Given the description of an element on the screen output the (x, y) to click on. 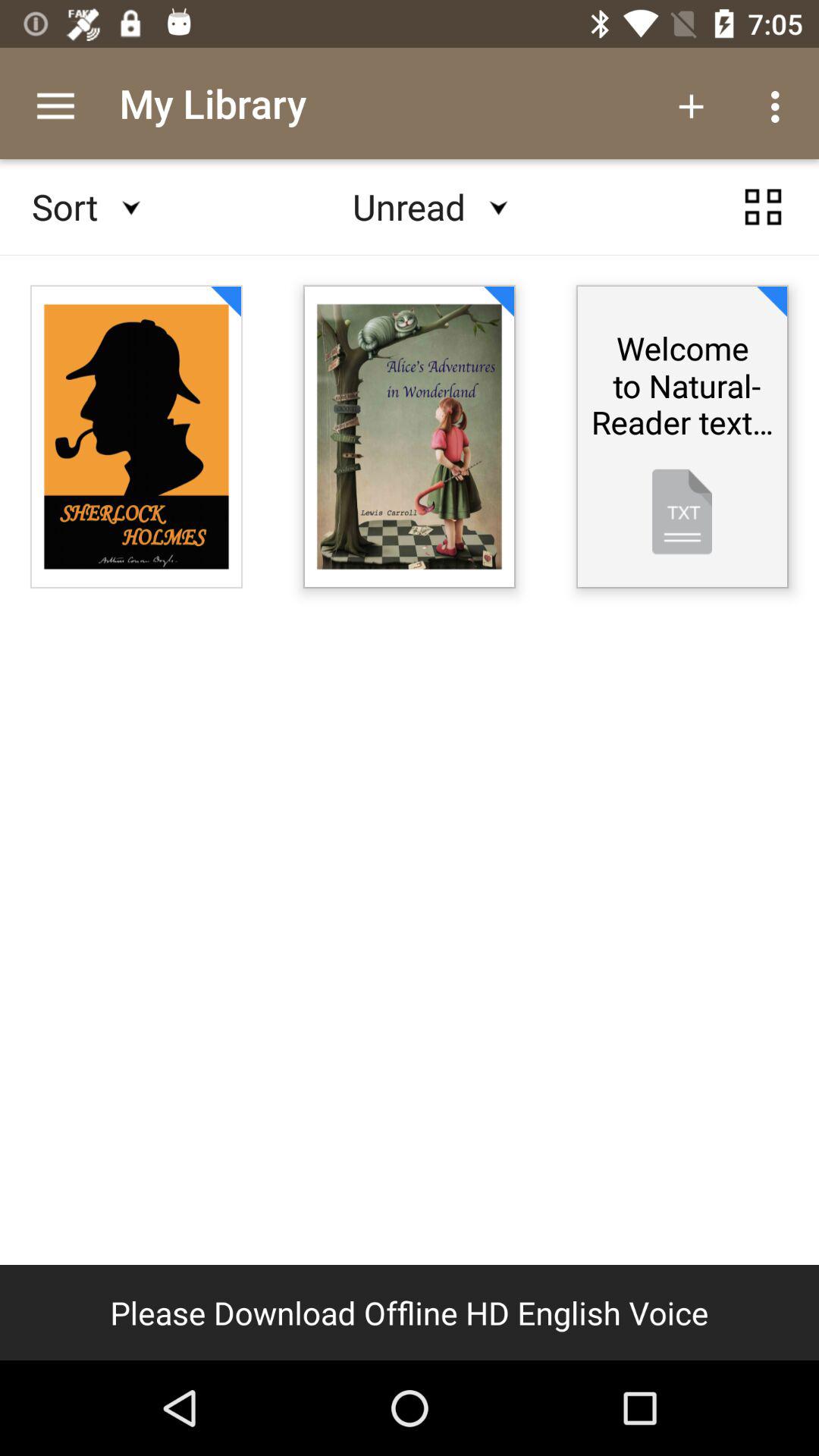
toggle menu option (763, 206)
